Given the description of an element on the screen output the (x, y) to click on. 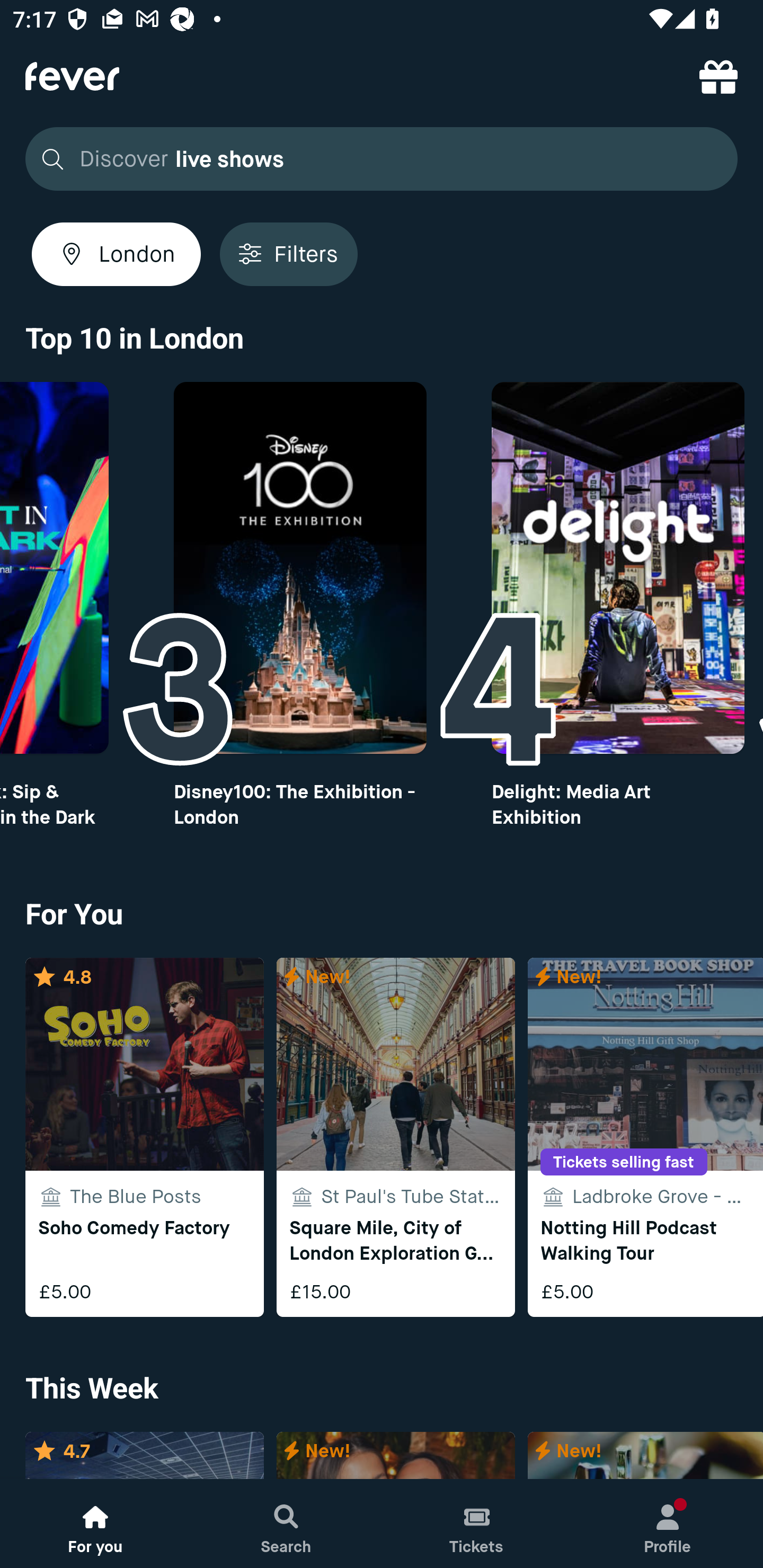
referral (718, 75)
Discover live shows (381, 158)
Discover live shows (376, 158)
London (116, 253)
Filters (288, 253)
Top10 image (299, 568)
Top10 image (617, 568)
Search (285, 1523)
Tickets (476, 1523)
Profile, New notification Profile (667, 1523)
